Given the description of an element on the screen output the (x, y) to click on. 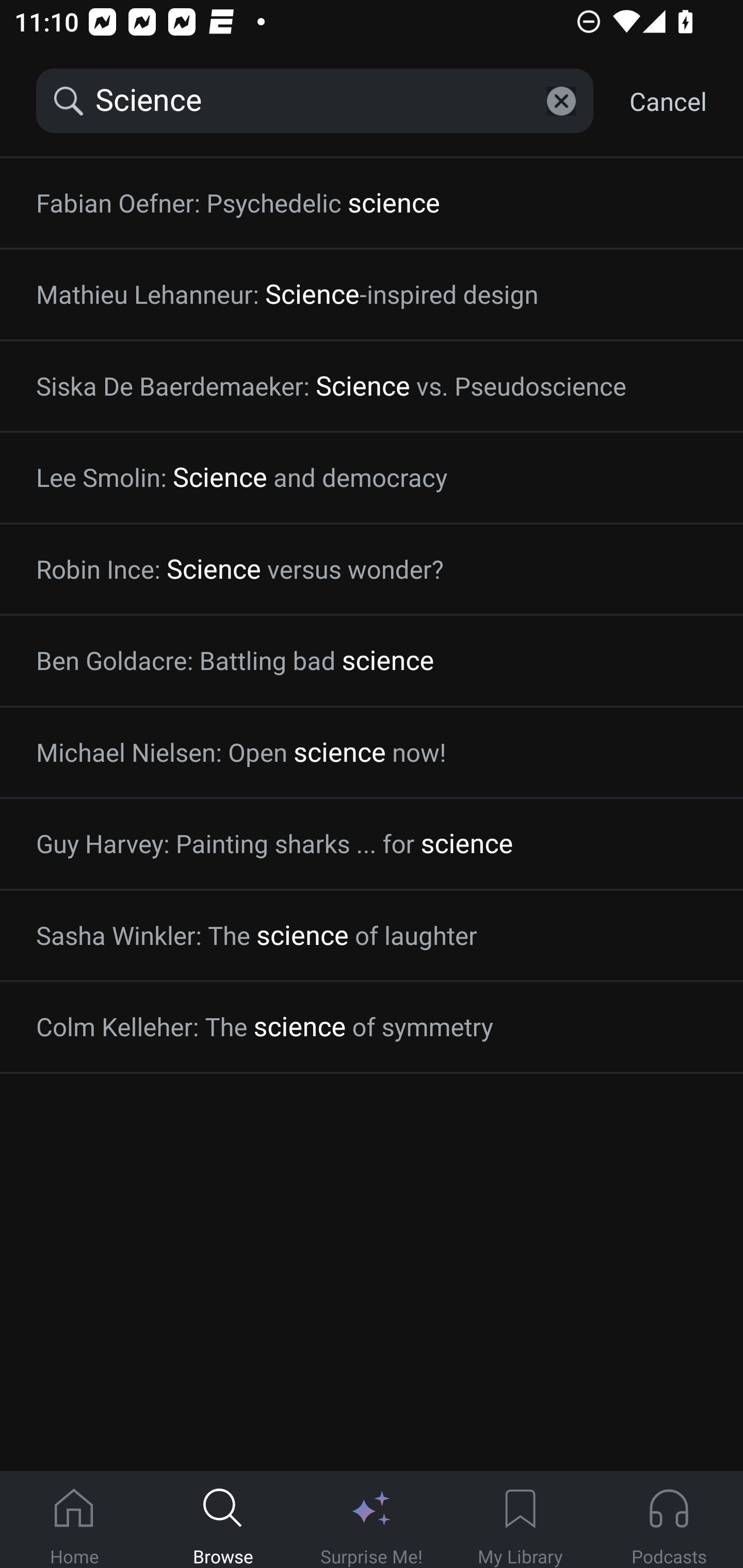
Science (314, 100)
Cancel (667, 100)
Fabian Oefner: Psychedelic science (371, 202)
Mathieu Lehanneur: Science-inspired design (371, 293)
Siska De Baerdemaeker: Science vs. Pseudoscience (371, 386)
Lee Smolin: Science and democracy (371, 477)
Robin Ince: Science versus wonder? (371, 569)
Ben Goldacre: Battling bad science (371, 660)
Michael Nielsen: Open science now! (371, 752)
Guy Harvey: Painting sharks ... for science (371, 844)
Sasha Winkler: The science of laughter (371, 935)
Colm Kelleher: The science of symmetry (371, 1026)
Home (74, 1520)
Browse (222, 1520)
Surprise Me! (371, 1520)
My Library (519, 1520)
Podcasts (668, 1520)
